Given the description of an element on the screen output the (x, y) to click on. 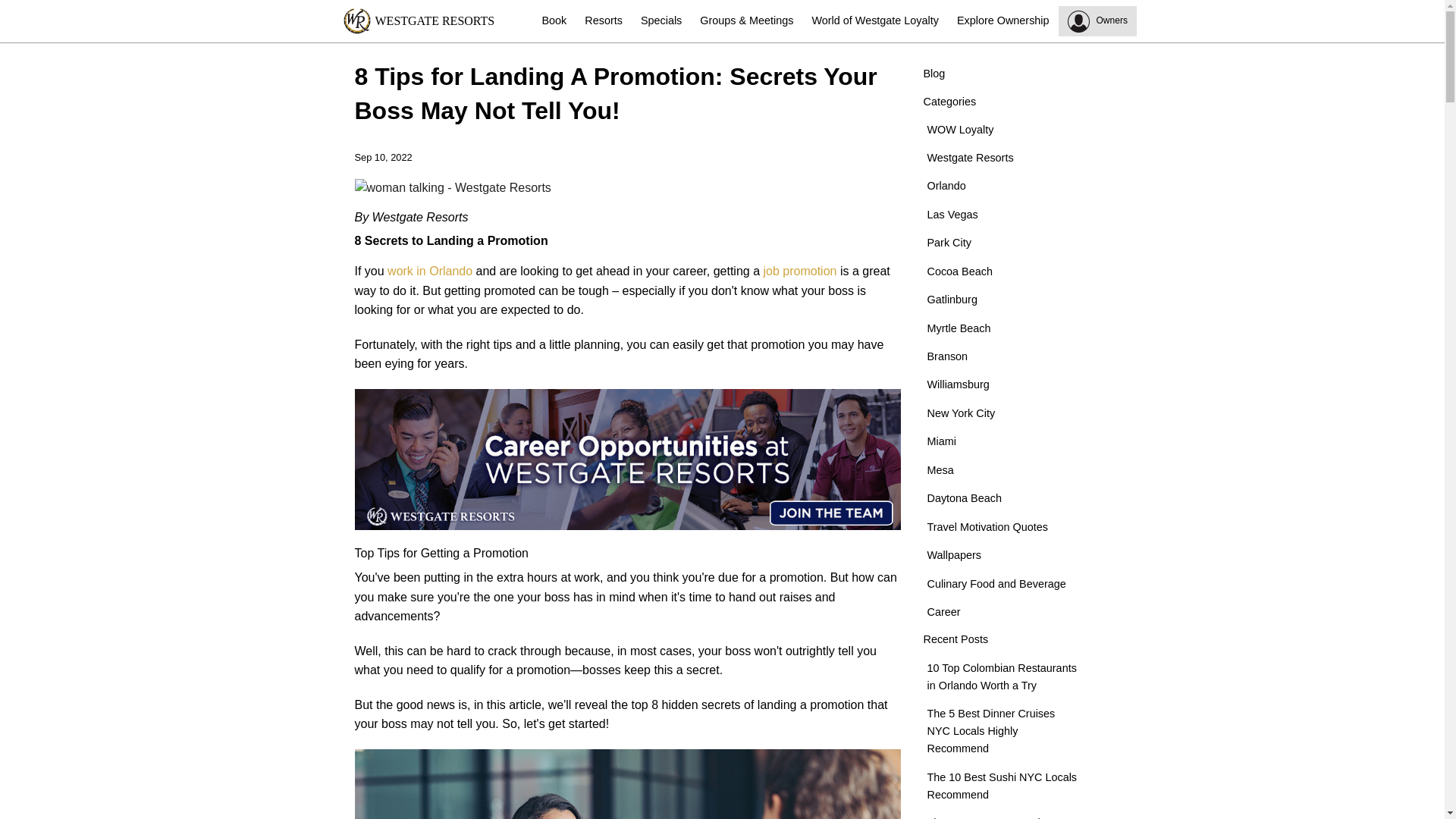
WESTGATE RESORTS (437, 21)
Book (553, 21)
Resorts (603, 21)
